Given the description of an element on the screen output the (x, y) to click on. 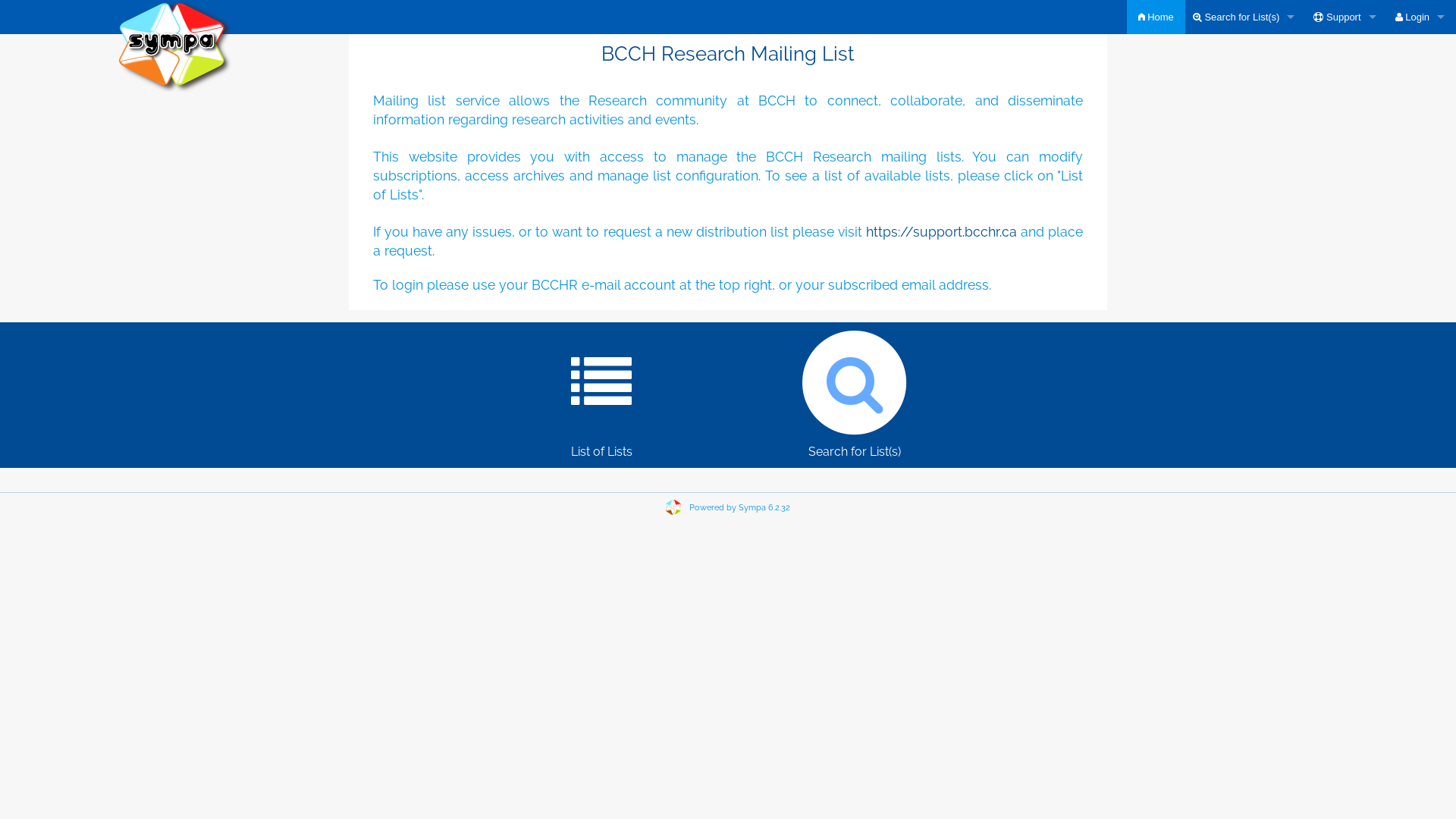
Index of Lists Element type: text (1245, 85)
https://support.bcchr.ca Element type: text (941, 231)
FAQ Element type: text (1345, 85)
Search for List(s) Element type: text (1245, 17)
Support Element type: text (1345, 17)
https://list.bcchr.ca/sympa Element type: hover (174, 44)
Documentation Element type: text (1345, 51)
Powered by Sympa 6.2.32 Element type: text (739, 507)
List of Lists Element type: text (601, 390)
Go Element type: text (1415, 141)
Home Element type: text (1155, 17)
Browse lists by categories Element type: text (1245, 119)
Search for List(s) Element type: text (854, 390)
Search form Element type: text (1245, 51)
